Given the description of an element on the screen output the (x, y) to click on. 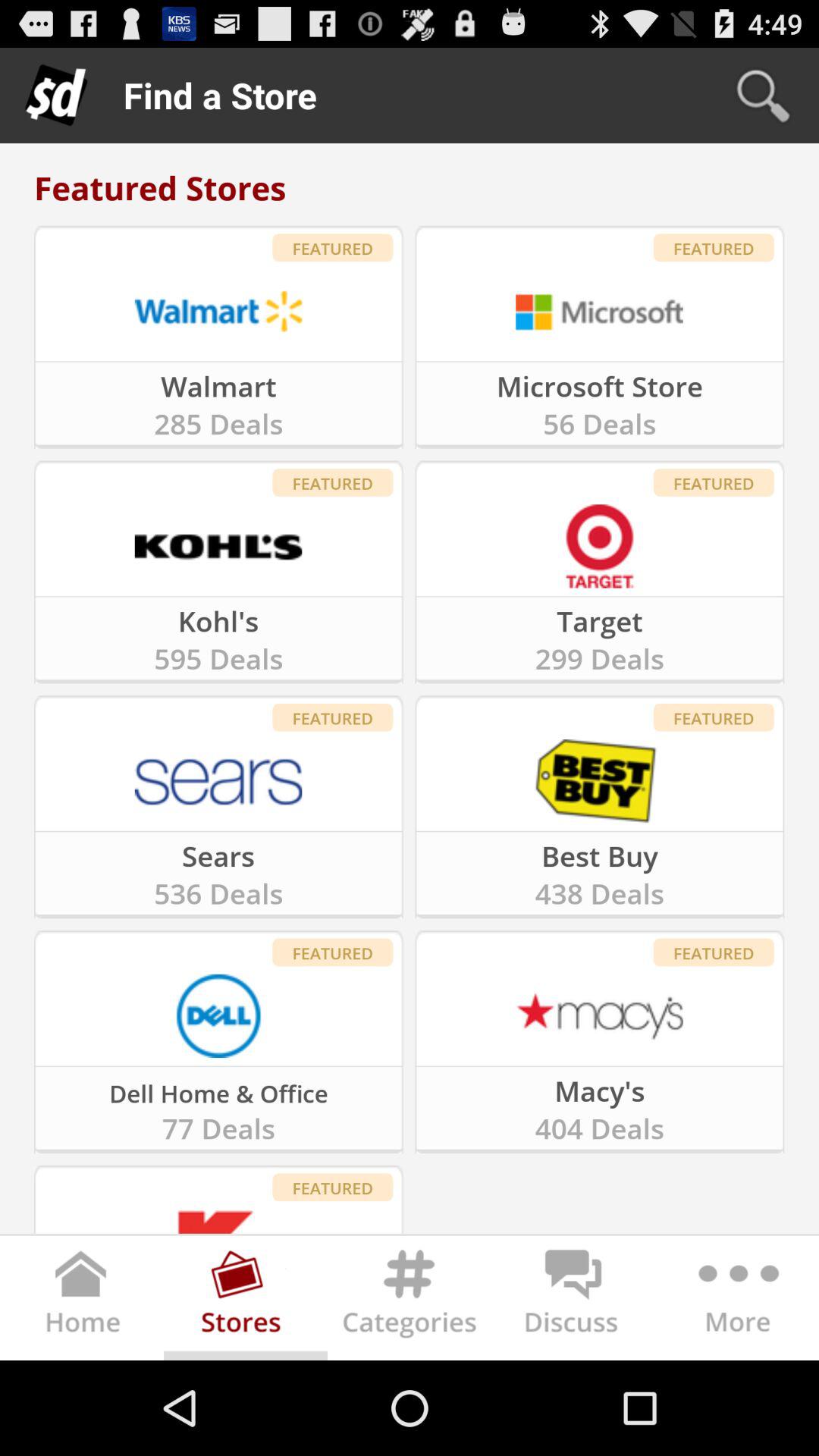
launch icon to the right of    find a store app (763, 95)
